Given the description of an element on the screen output the (x, y) to click on. 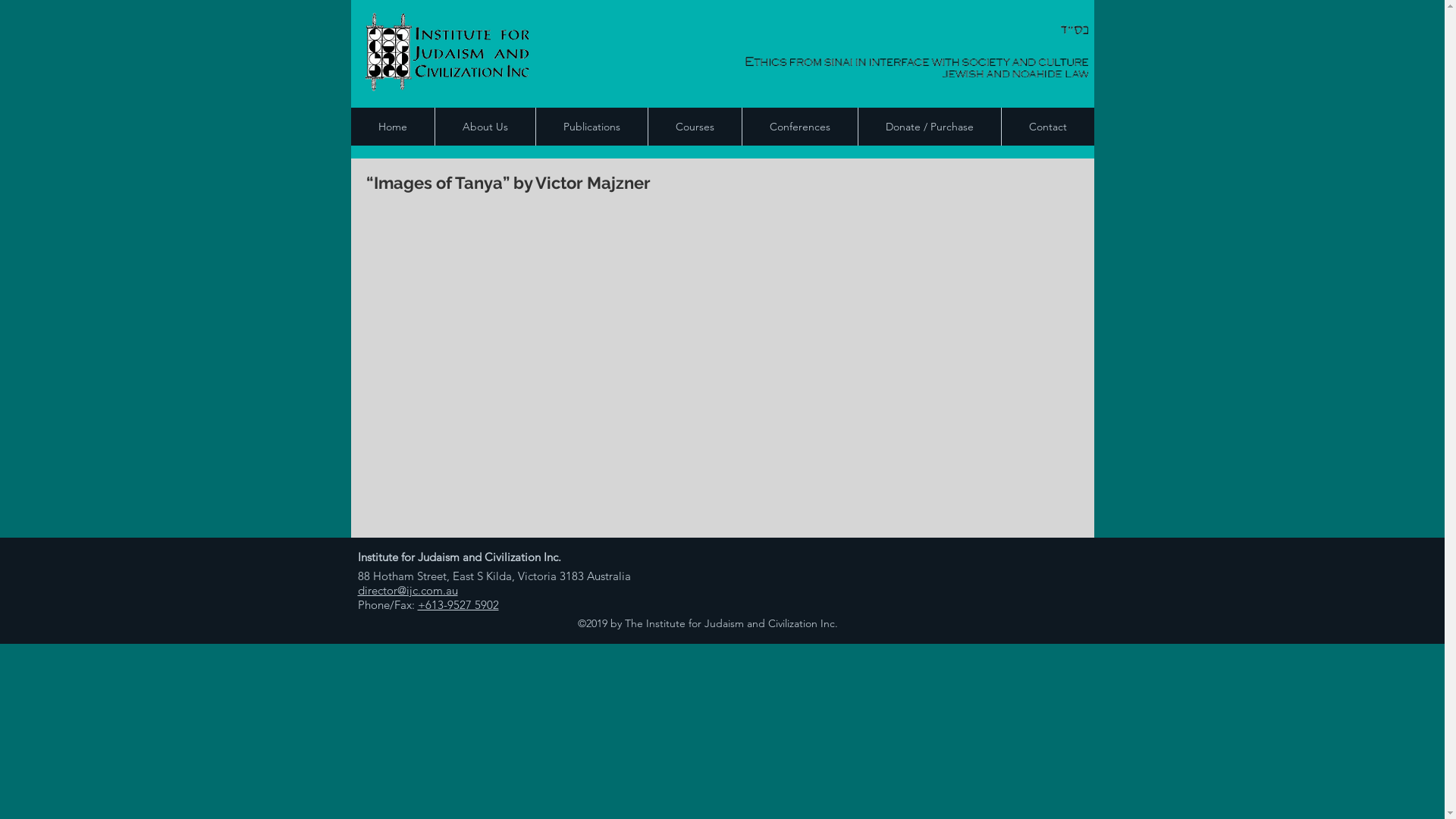
Contact Element type: text (1047, 126)
Conferences Element type: text (799, 126)
Courses Element type: text (694, 126)
director@ijc.com.au Element type: text (407, 590)
About Us Element type: text (483, 126)
Publications Element type: text (591, 126)
+613-9527 5902 Element type: text (457, 604)
Home Element type: text (391, 126)
Donate / Purchase Element type: text (928, 126)
